Given the description of an element on the screen output the (x, y) to click on. 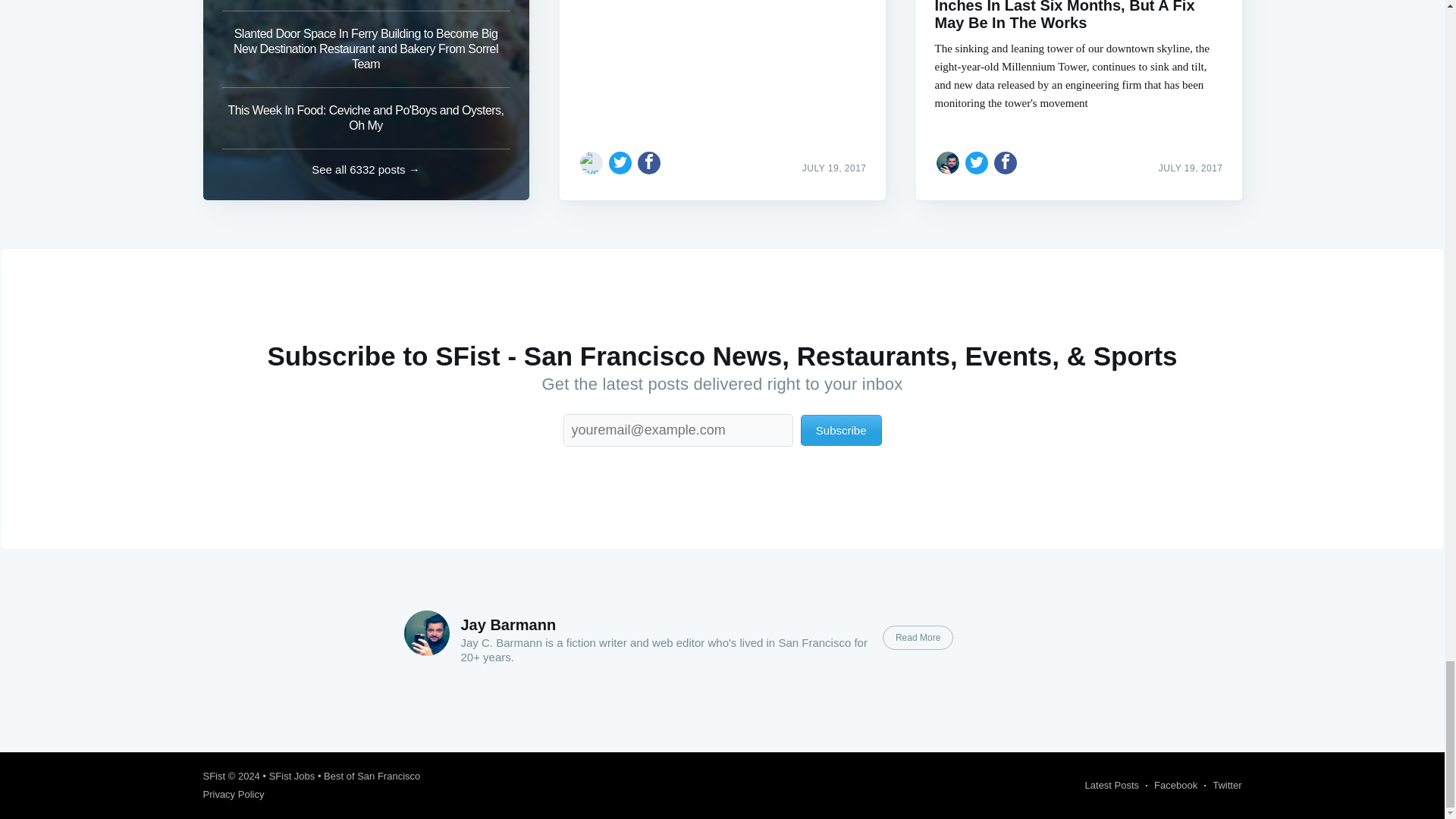
Share on Facebook (649, 162)
Share on Twitter (976, 162)
Share on Facebook (1004, 162)
This Week In Food: Ceviche and Po'Boys and Oysters, Oh My (365, 118)
Share on Twitter (620, 162)
